Given the description of an element on the screen output the (x, y) to click on. 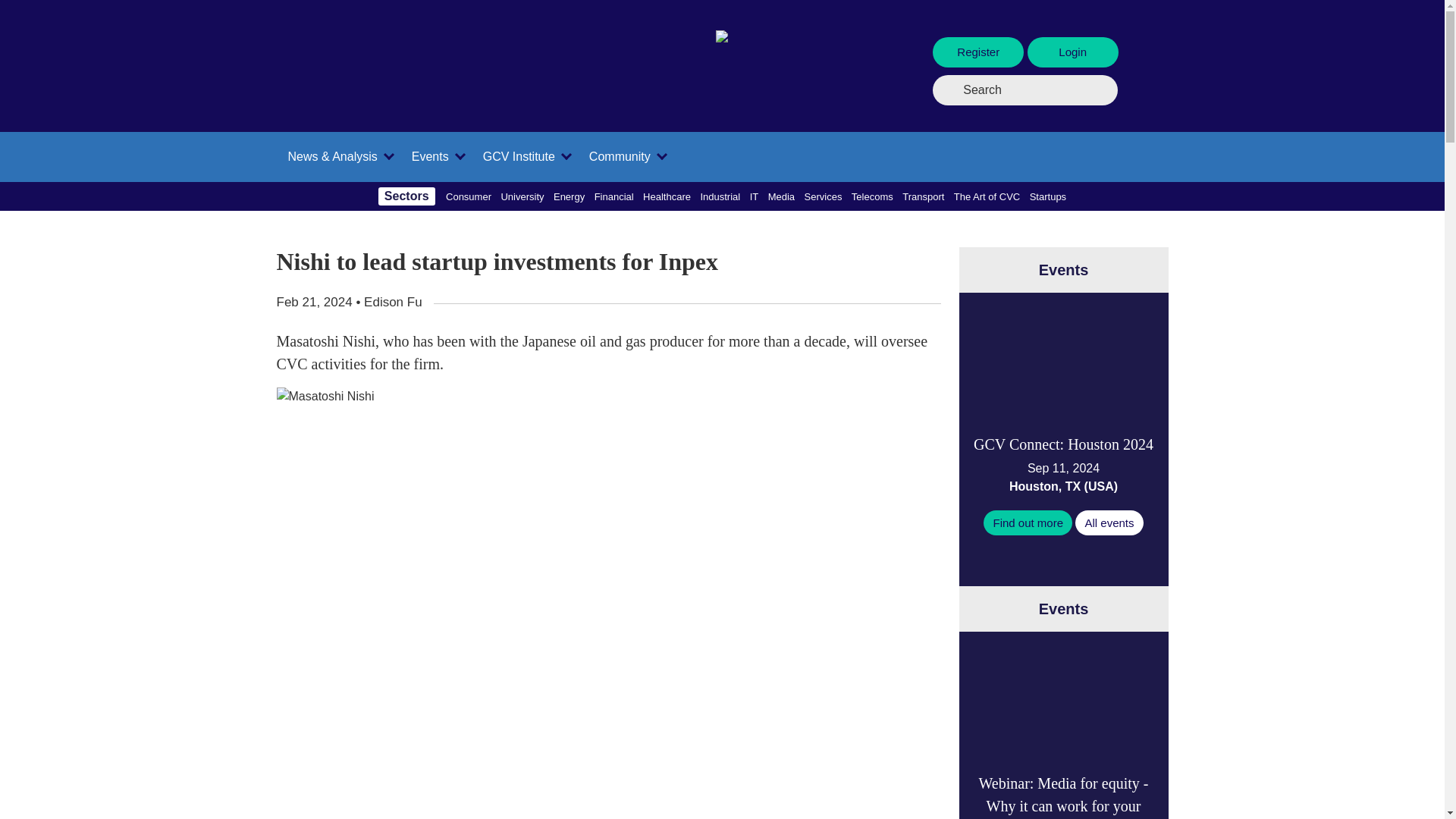
Login (1072, 51)
Register (979, 51)
Register (978, 51)
Login (1072, 51)
